Given the description of an element on the screen output the (x, y) to click on. 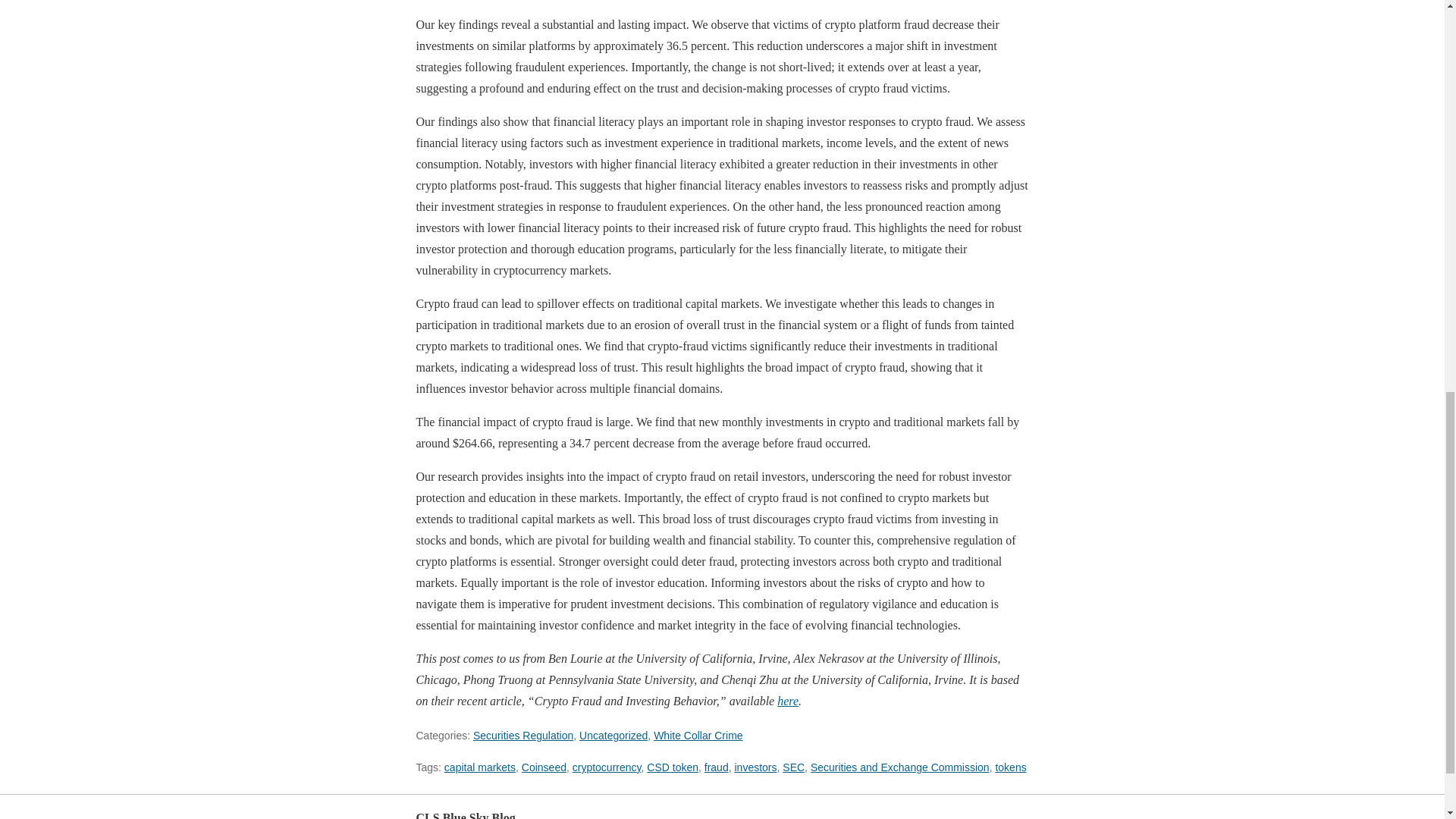
Coinseed (543, 767)
fraud (716, 767)
White Collar Crime (697, 735)
cryptocurrency (607, 767)
here (787, 700)
capital markets (479, 767)
CSD token (672, 767)
investors (754, 767)
Securities Regulation (523, 735)
Securities and Exchange Commission (900, 767)
tokens (1010, 767)
Back to top (1002, 817)
Uncategorized (613, 735)
SEC (794, 767)
